Given the description of an element on the screen output the (x, y) to click on. 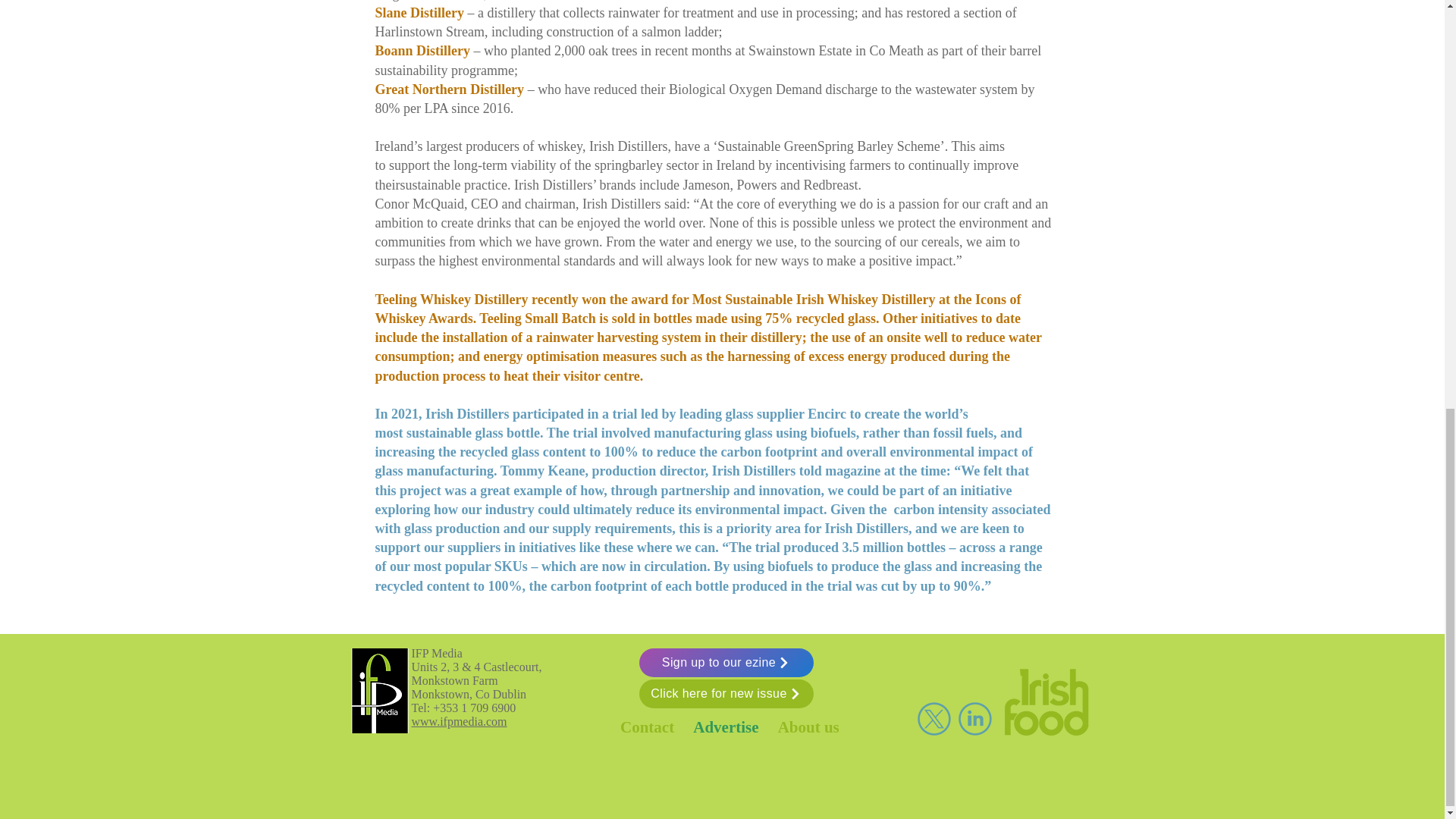
Sign up to our ezine (725, 662)
Click here for new issue (725, 693)
Advertise (725, 727)
Contact (647, 727)
About us  (810, 727)
www.ifpmedia.com (458, 721)
